Given the description of an element on the screen output the (x, y) to click on. 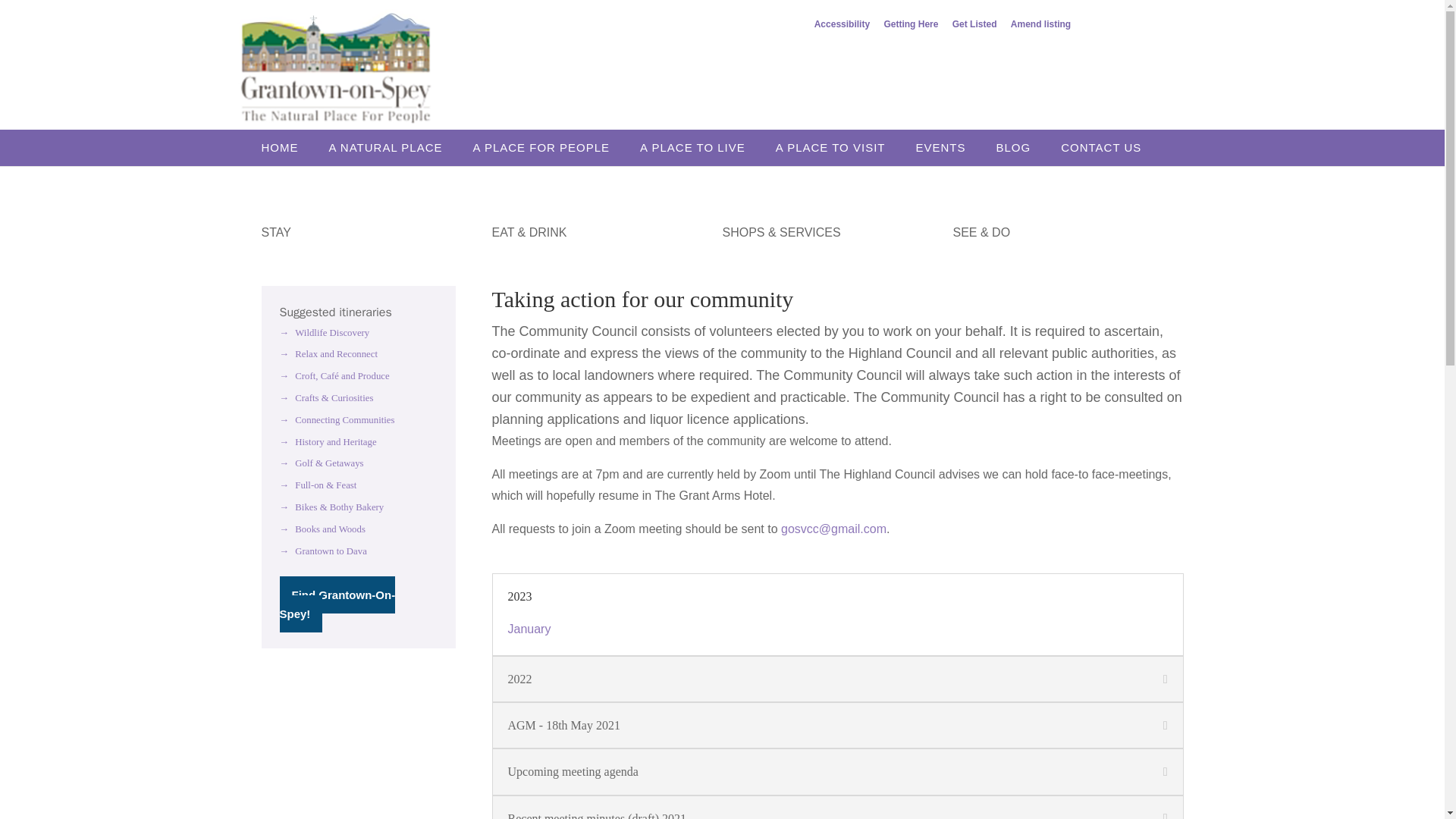
CONTACT US (1108, 147)
Getting Here (910, 27)
BLOG (1020, 147)
Connecting Communities (336, 419)
Wildlife Discovery (324, 332)
Accessibility (841, 27)
Relax and Reconnect (328, 353)
A PLACE TO LIVE (700, 147)
EVENTS (947, 147)
History and Heritage (327, 441)
A NATURAL PLACE (393, 147)
A PLACE TO VISIT (838, 147)
Amend listing (1040, 27)
Get Listed (974, 27)
A PLACE FOR PEOPLE (549, 147)
